Given the description of an element on the screen output the (x, y) to click on. 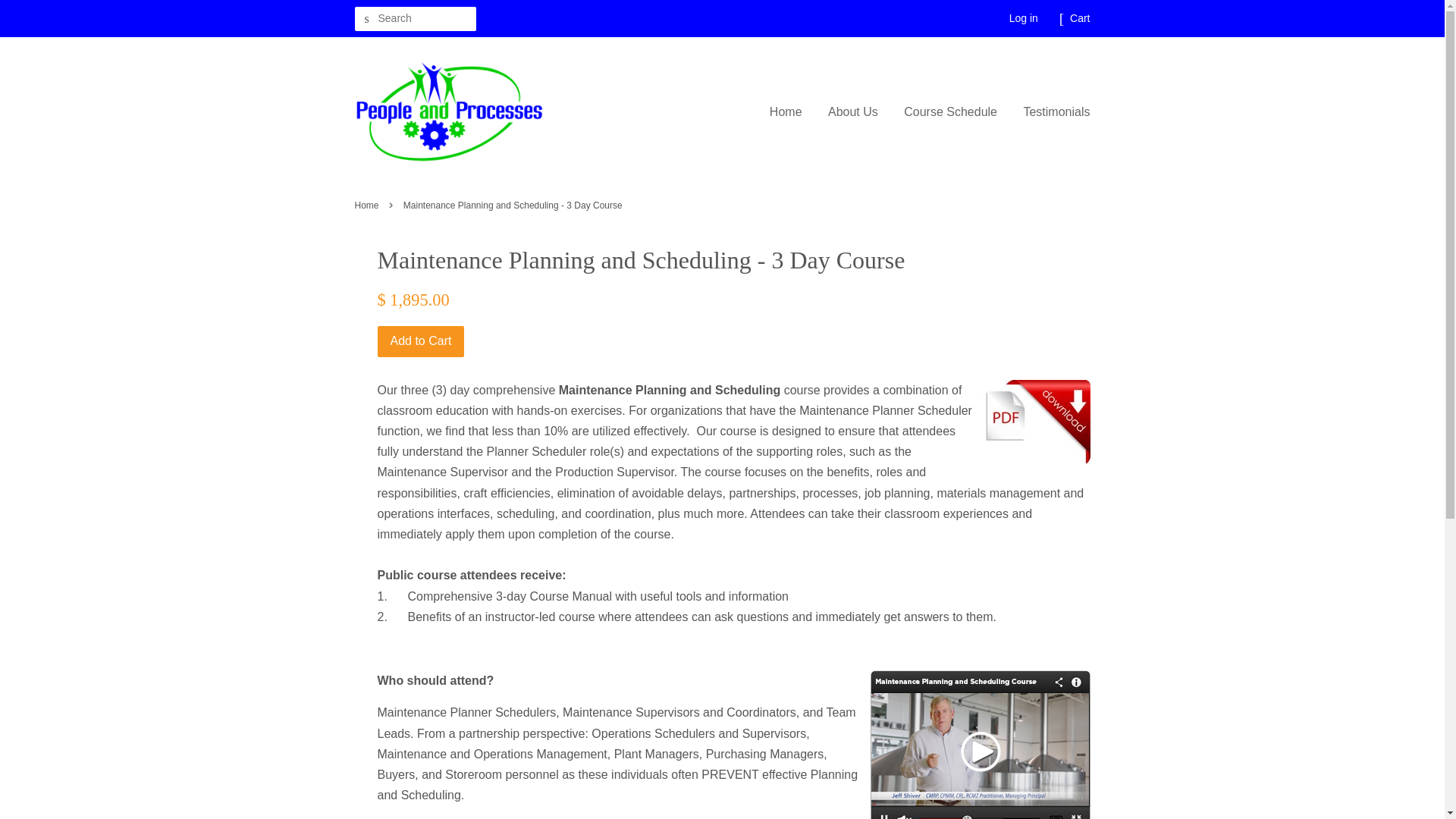
Back to the frontpage (368, 204)
Add to Cart (420, 341)
Search (366, 18)
Cart (1079, 18)
Log in (1023, 18)
Home (368, 204)
Testimonials (1050, 111)
Home (791, 111)
pup-pdf-download.jpg (1034, 423)
About Us (852, 111)
